Given the description of an element on the screen output the (x, y) to click on. 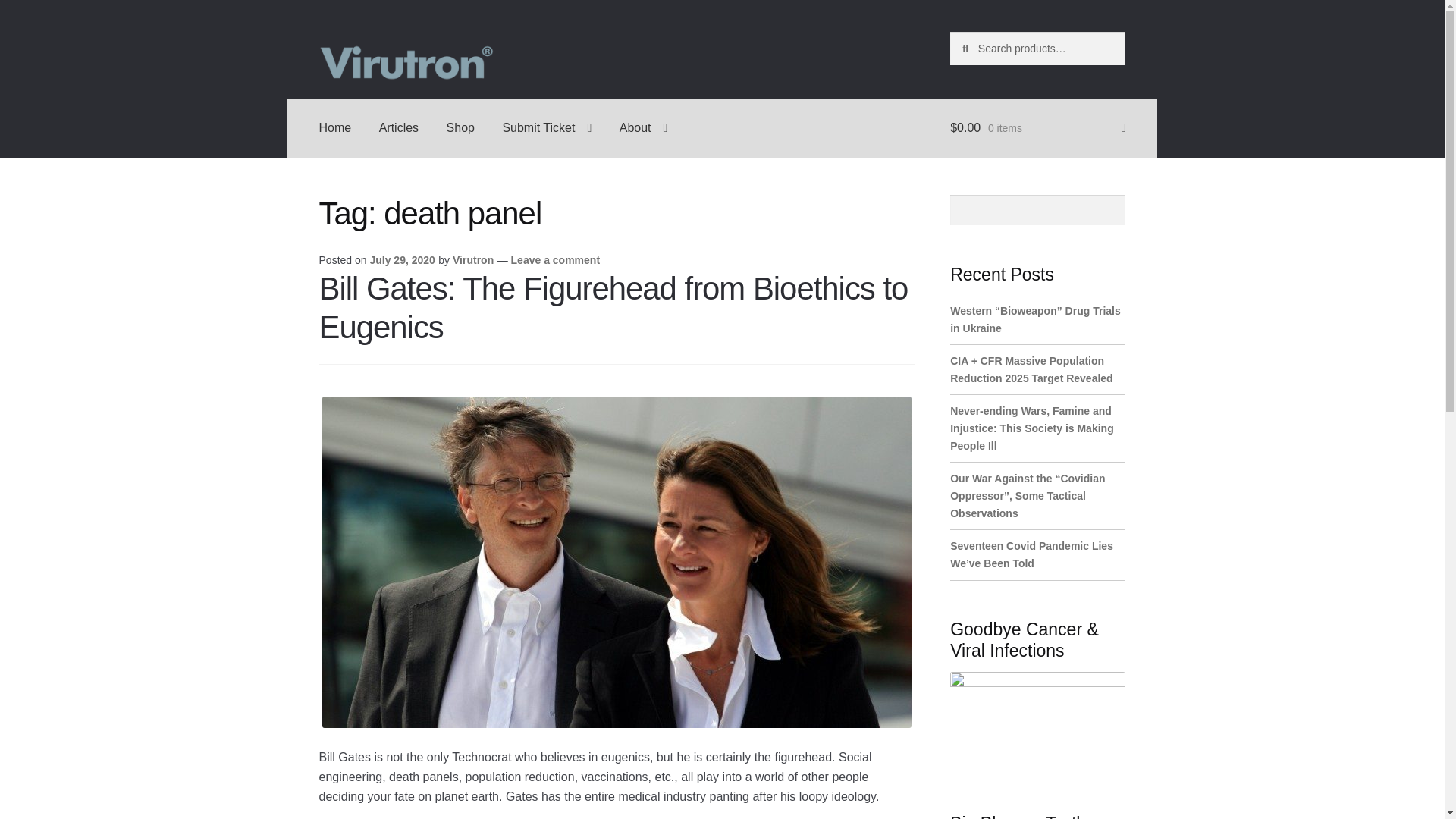
Leave a comment (555, 259)
Submit Ticket (546, 128)
View your shopping cart (1037, 128)
Bill Gates: The Figurehead from Bioethics to Eugenics (613, 307)
Articles (398, 128)
About (643, 128)
Virutron (472, 259)
Home (335, 128)
July 29, 2020 (401, 259)
